Given the description of an element on the screen output the (x, y) to click on. 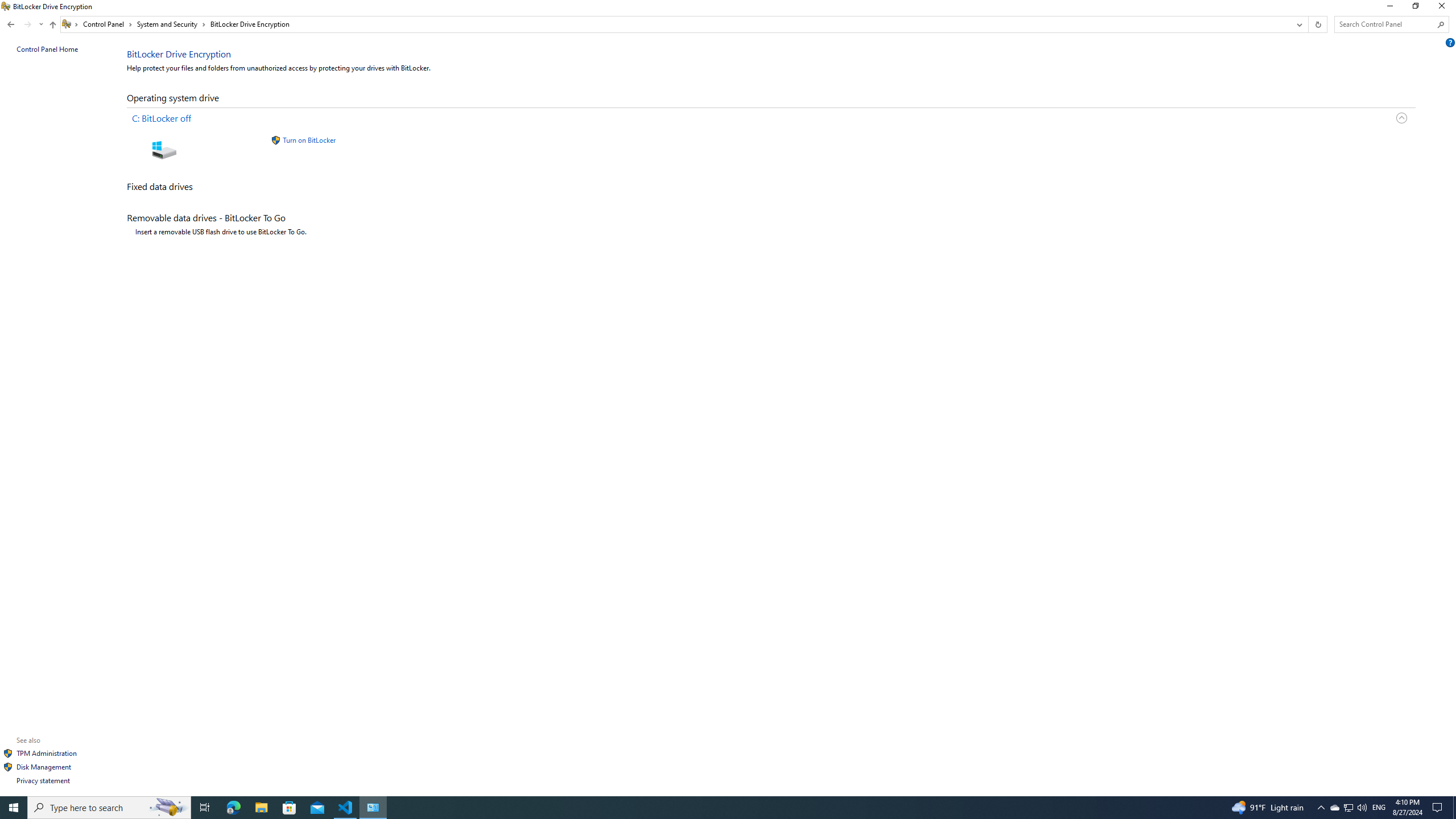
Search highlights icon opens search home window (167, 807)
hubhelp (1450, 42)
Tray Input Indicator - English (United States) (1333, 807)
System and Security (1378, 807)
Refresh "BitLocker Drive Encryption" (F5) (171, 23)
Previous Locations (1316, 23)
Privacy statement (1298, 23)
Search (43, 780)
Control Panel Home (1441, 24)
Minimize (47, 49)
Address band toolbar (1388, 8)
Control Panel - 1 running window (1308, 23)
